Given the description of an element on the screen output the (x, y) to click on. 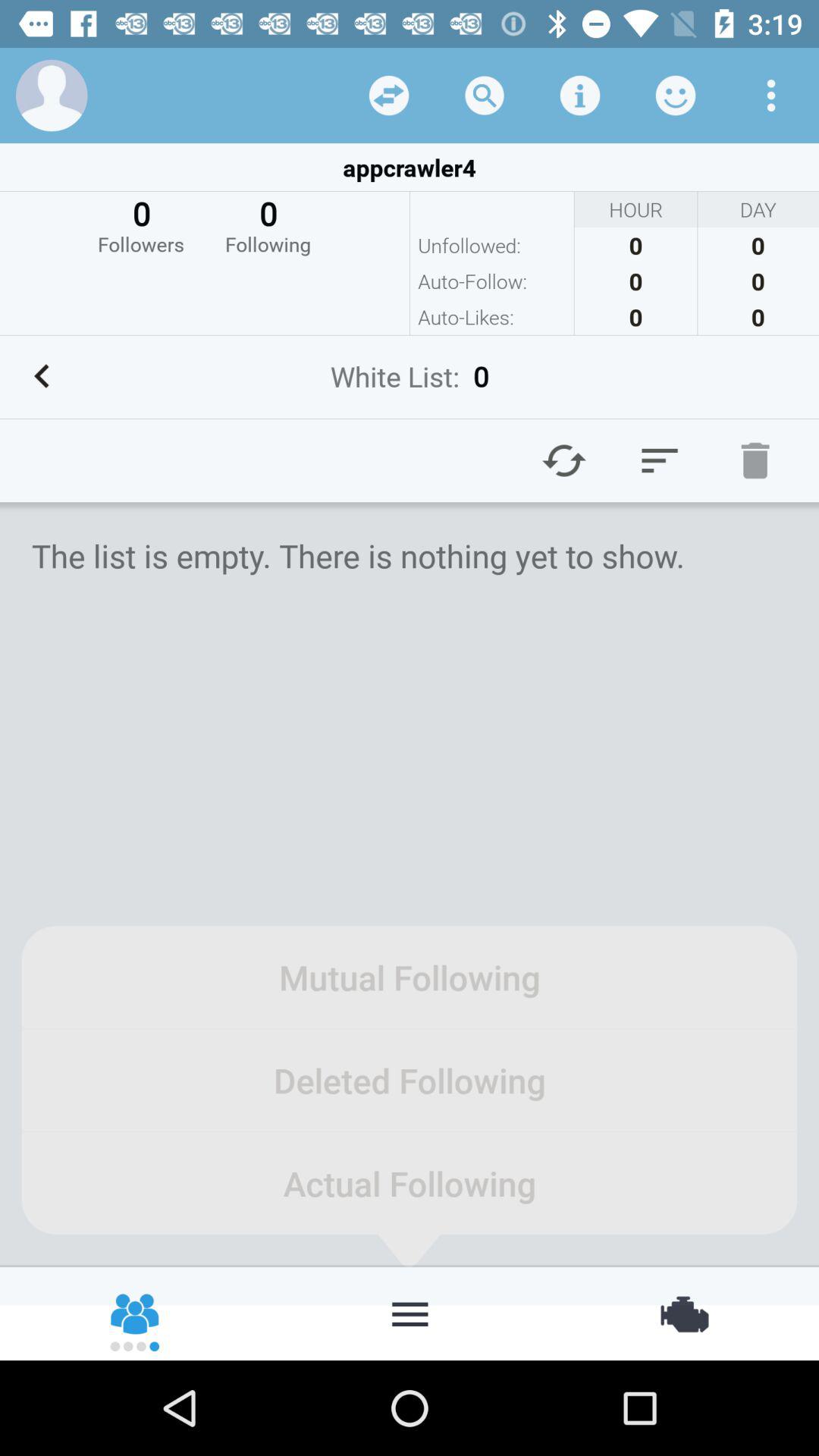
delete box (755, 460)
